Given the description of an element on the screen output the (x, y) to click on. 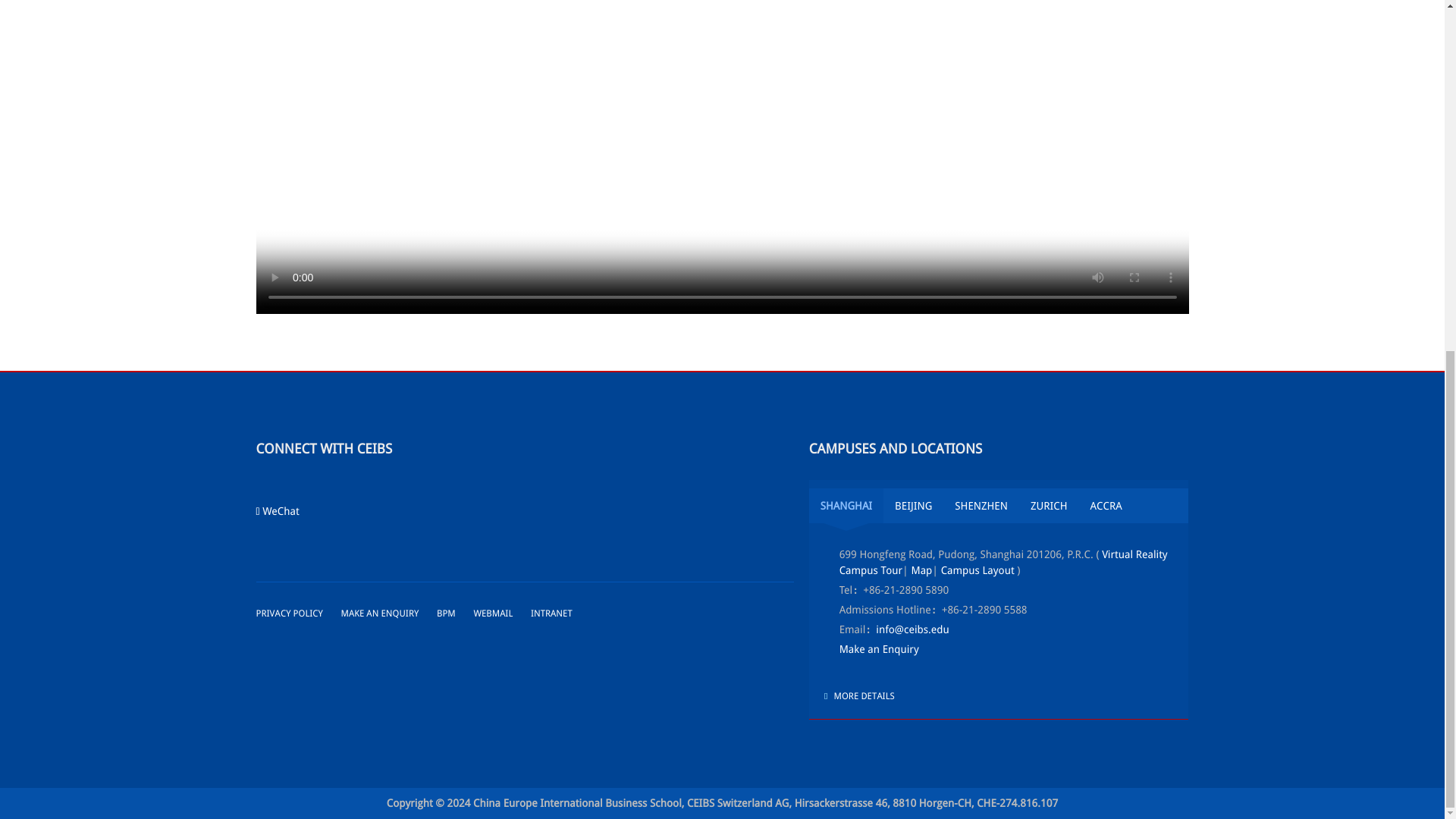
ZURICH (1048, 505)
SHENZHEN (981, 505)
SHANGHAI BEIJING SHENZHEN ZURICH ACCRA (999, 505)
SHANGHAI (846, 505)
ACCRA (1106, 505)
BEIJING (913, 505)
SHANGHAI BEIJING SHENZHEN ZURICH ACCRA (999, 505)
